Given the description of an element on the screen output the (x, y) to click on. 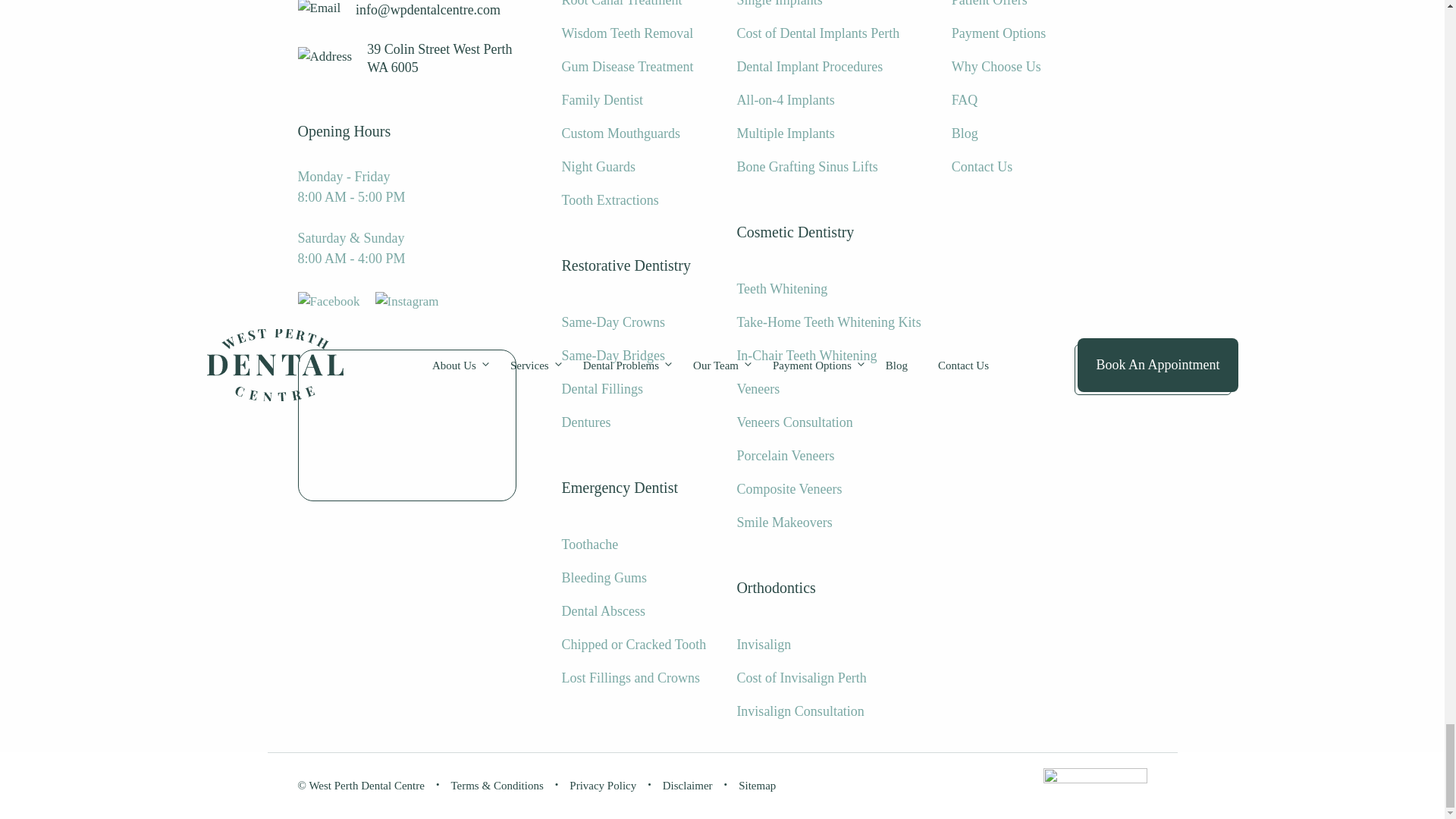
Instagram (407, 301)
Facebook (328, 301)
